Given the description of an element on the screen output the (x, y) to click on. 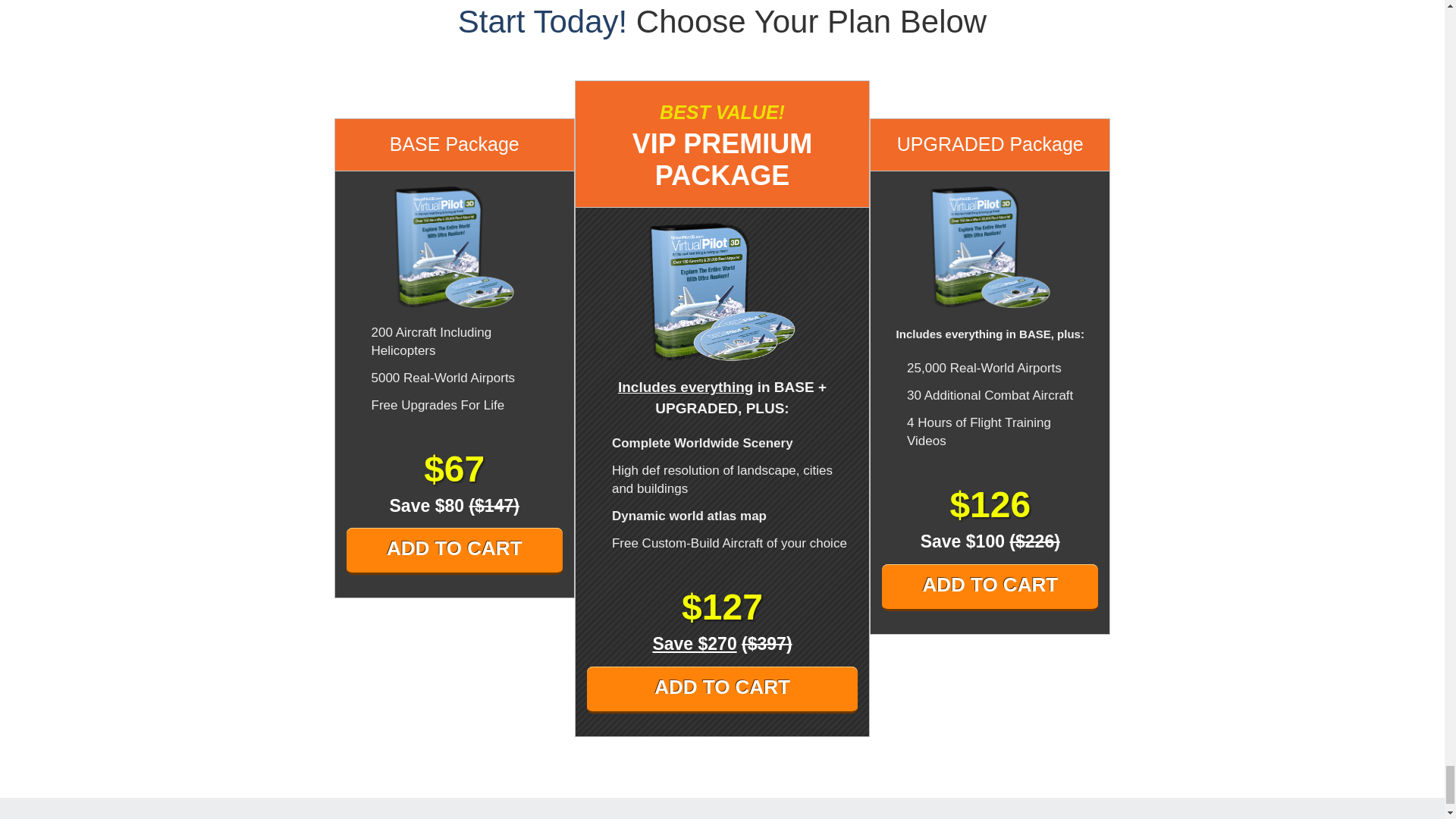
ADD TO CART (989, 587)
ADD TO CART (721, 689)
ADD TO CART (454, 550)
